Given the description of an element on the screen output the (x, y) to click on. 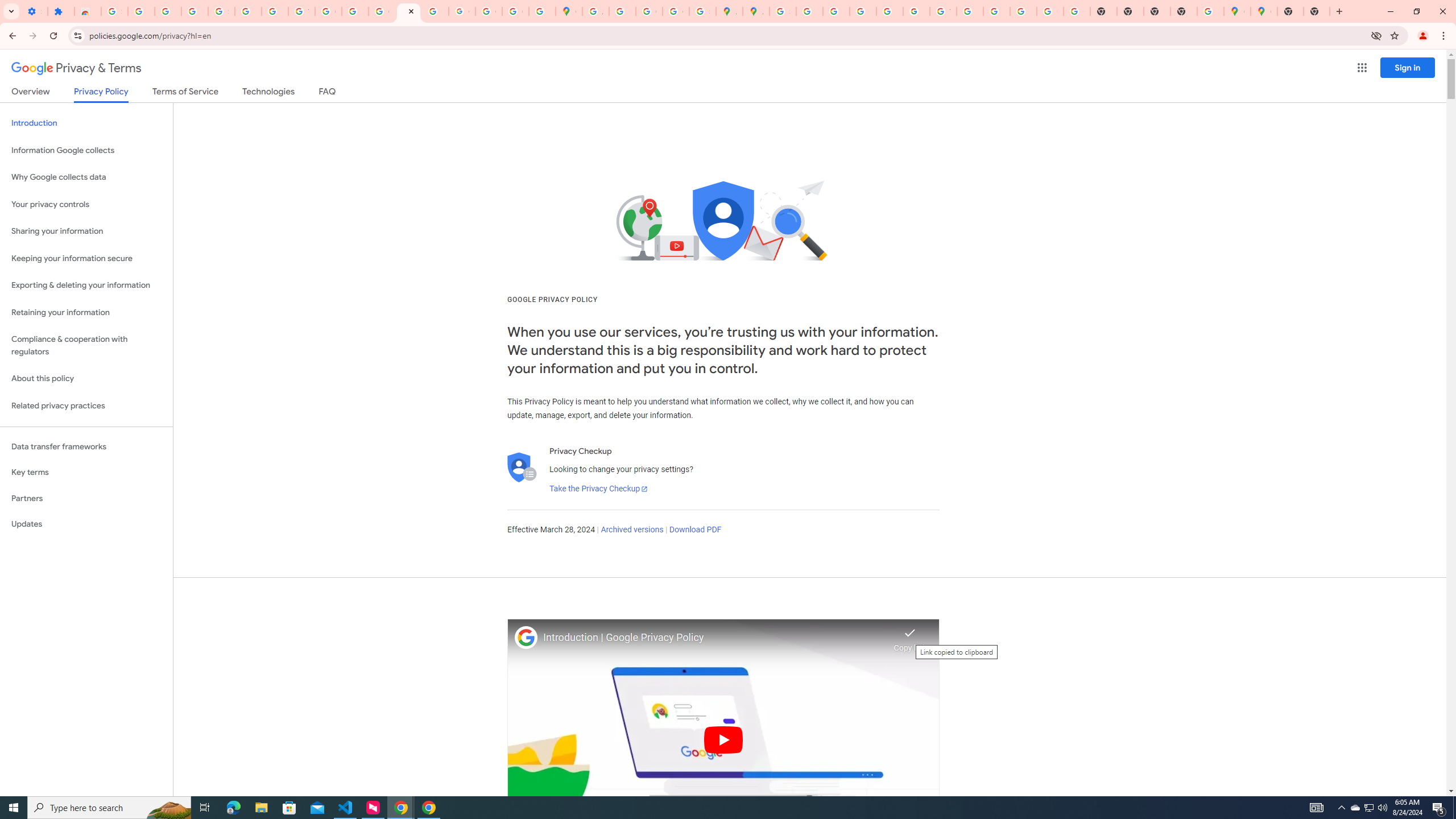
Related privacy practices (86, 405)
Introduction | Google Privacy Policy (715, 637)
Learn how to find your photos - Google Photos Help (167, 11)
Create your Google Account (649, 11)
Why Google collects data (86, 176)
Download PDF (695, 529)
About this policy (86, 379)
